Given the description of an element on the screen output the (x, y) to click on. 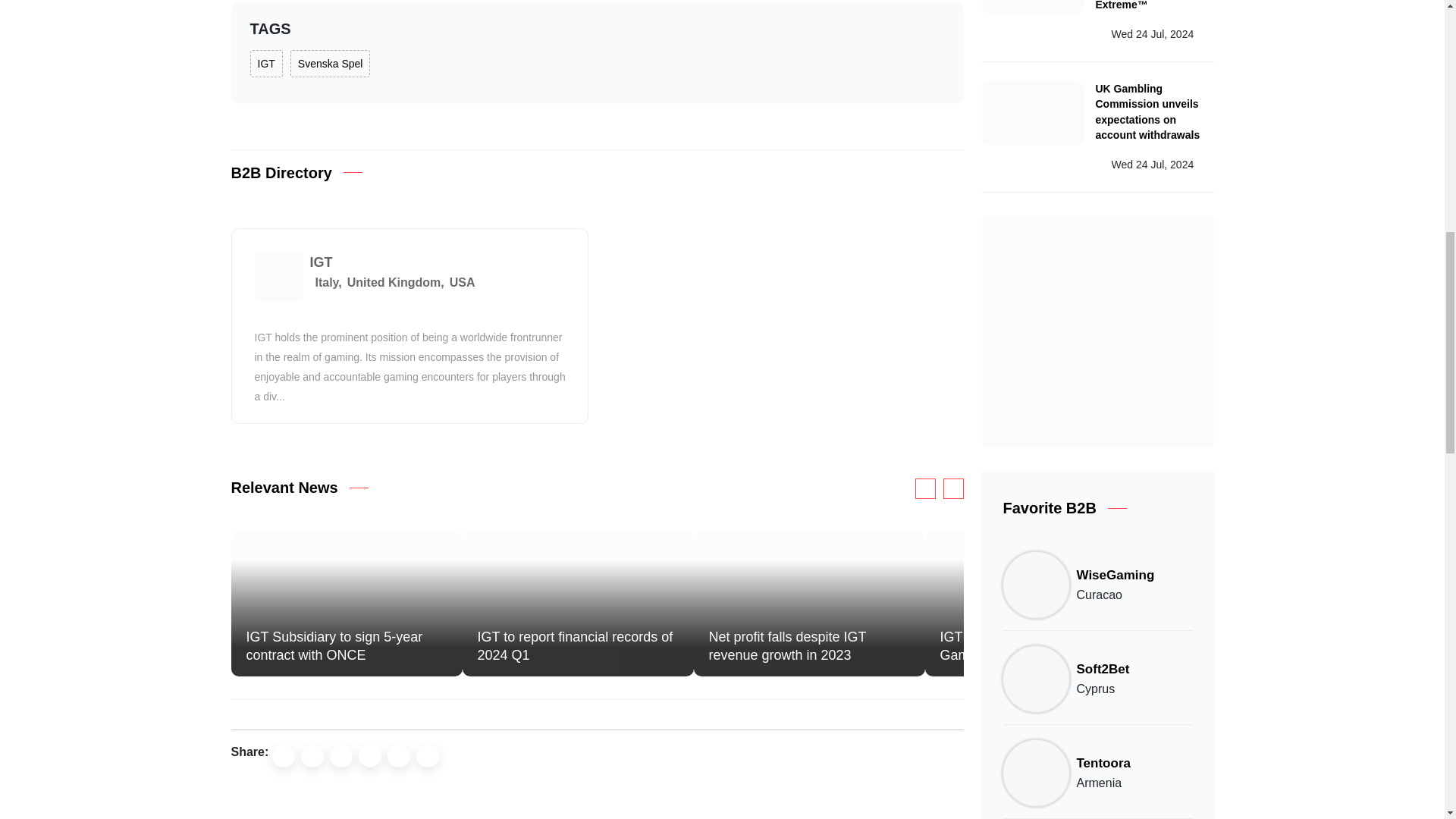
IGT (266, 62)
IGT Subsidiary to sign 5-year contract with ONCE (334, 645)
B2B Directory (280, 172)
Relevant News (283, 487)
Svenska Spel (330, 62)
IGT (319, 262)
